Given the description of an element on the screen output the (x, y) to click on. 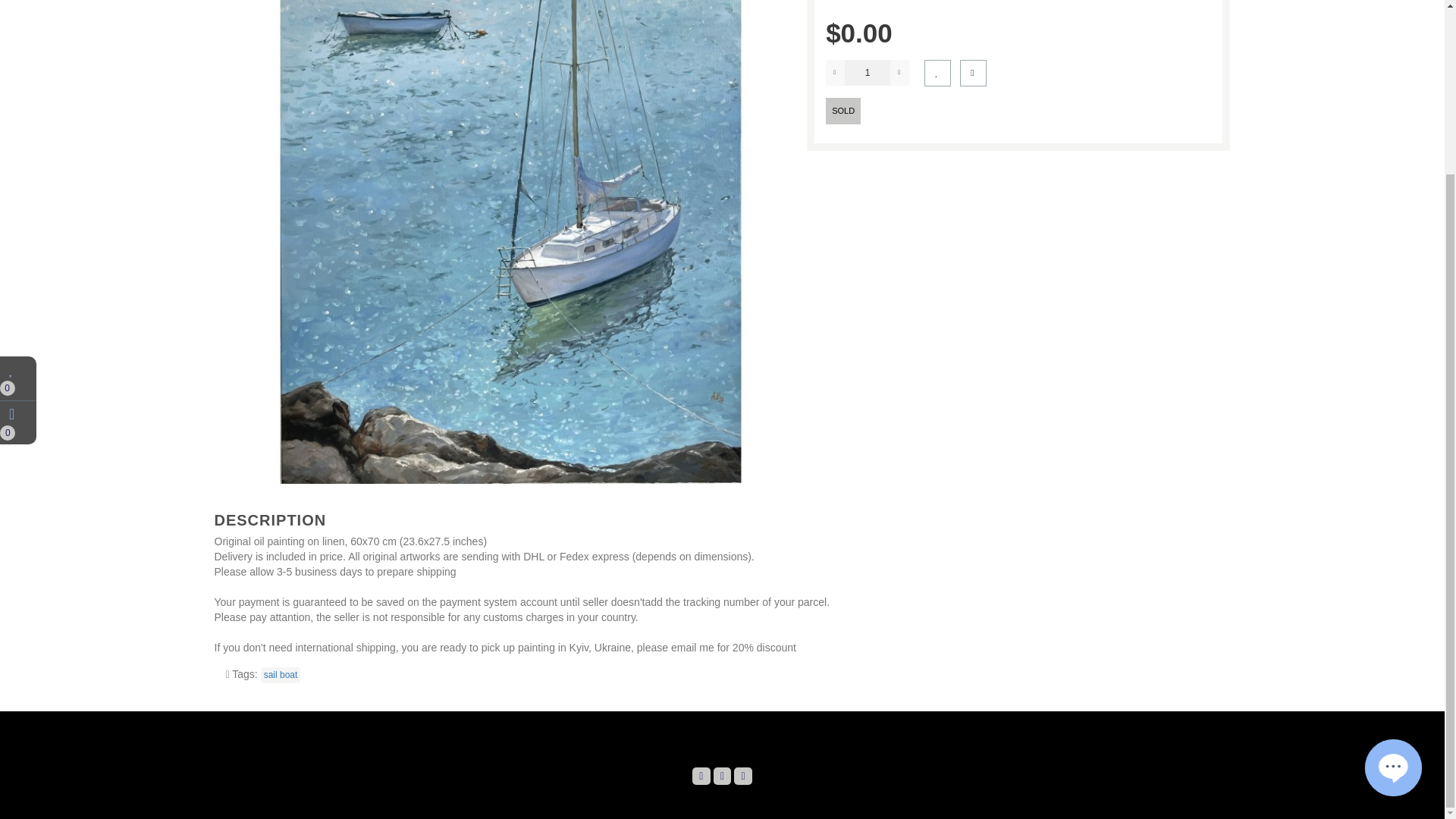
1 (866, 72)
